Given the description of an element on the screen output the (x, y) to click on. 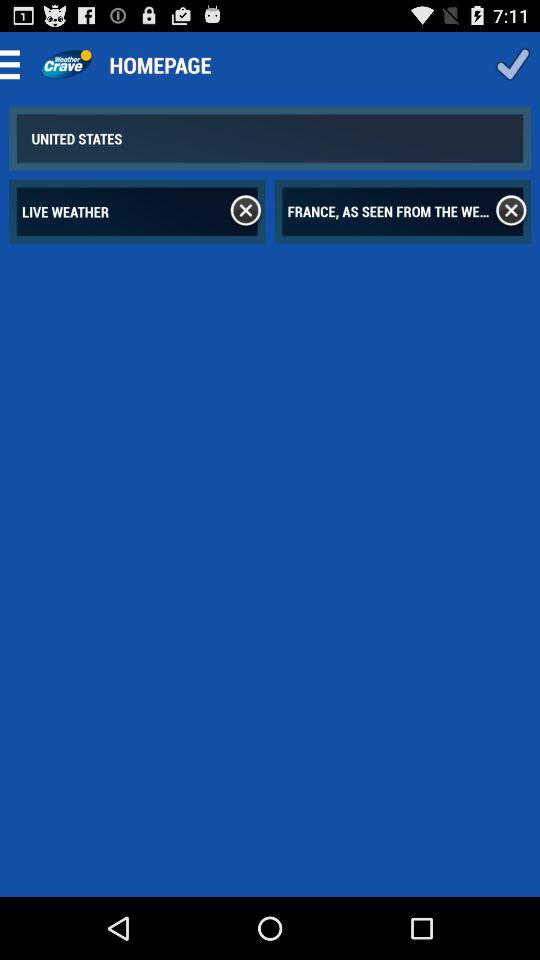
turn on icon above united states (16, 63)
